Given the description of an element on the screen output the (x, y) to click on. 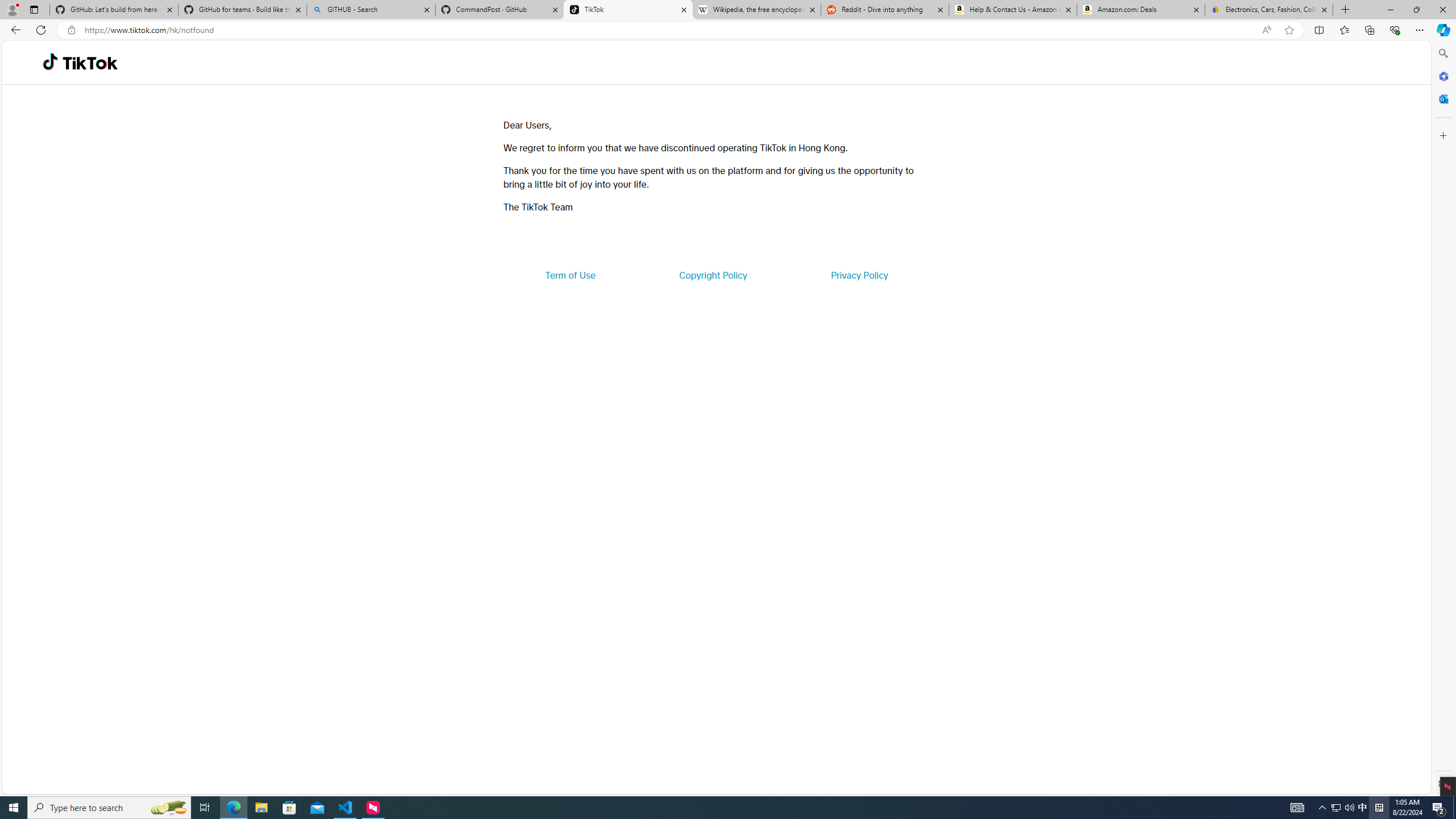
Privacy Policy (858, 274)
Copyright Policy (712, 274)
GITHUB - Search (370, 9)
